Given the description of an element on the screen output the (x, y) to click on. 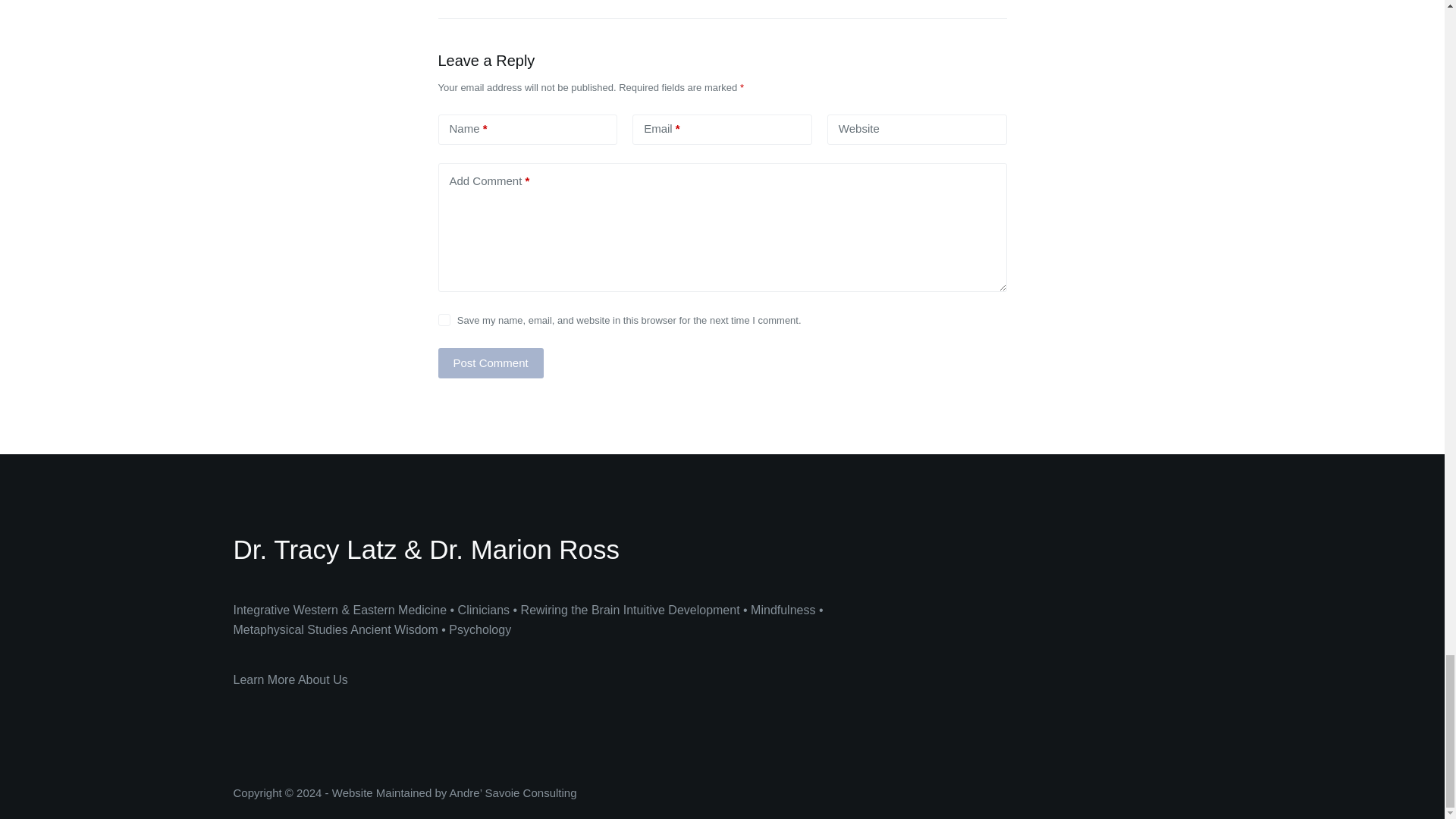
yes (443, 319)
